Given the description of an element on the screen output the (x, y) to click on. 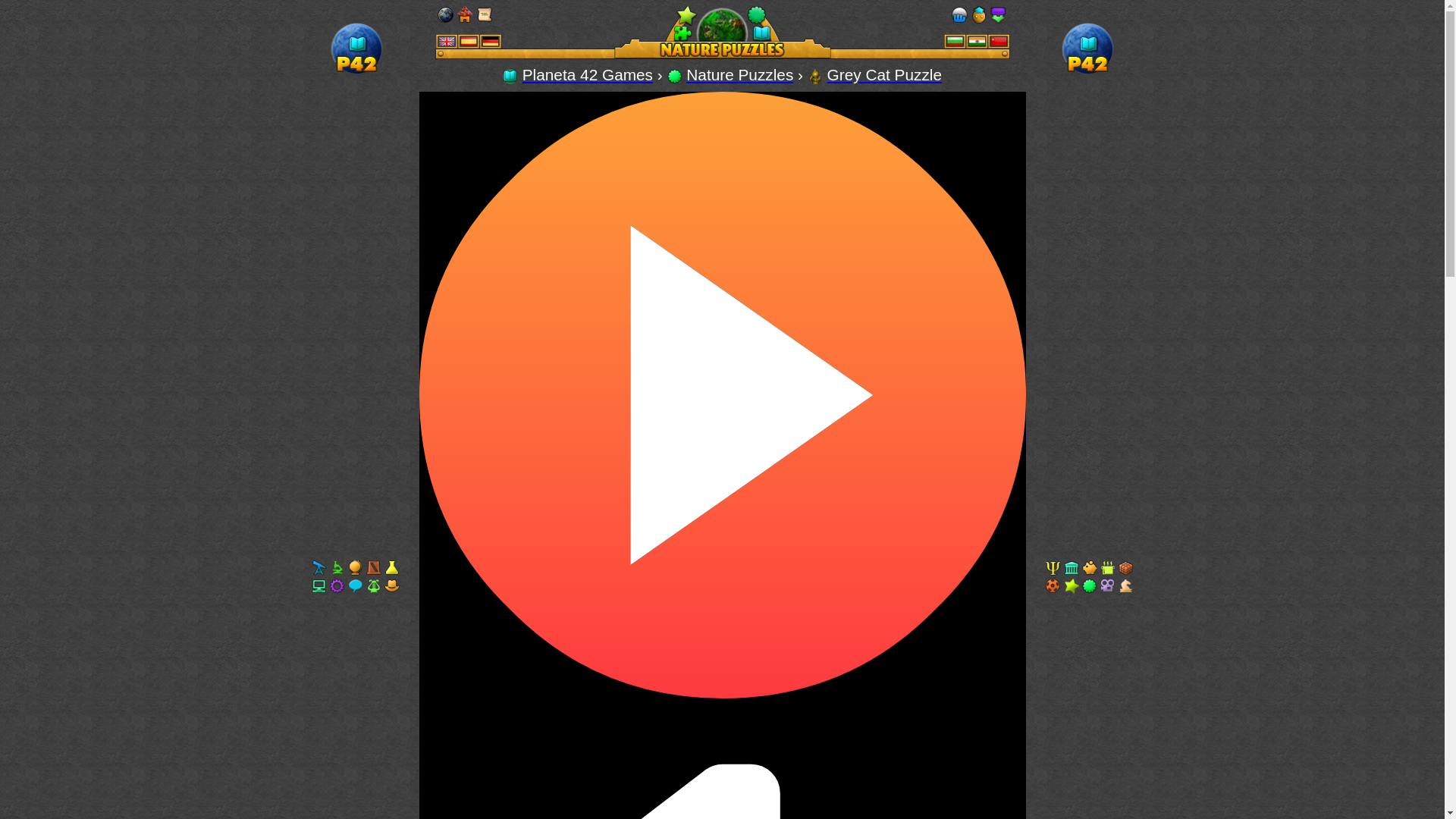
Fun Nature Puzzles (674, 75)
P42 Online Games (356, 48)
Planeta 42 Games (587, 74)
Grey Cat Puzzle (884, 74)
Online Leanirng Games (587, 74)
Planeta 42 (1087, 73)
Knowledge Level Game (884, 74)
Free Online Games (510, 75)
Fun Collectible Nature Puzzles (722, 31)
Nature Puzzle (815, 74)
Solve the puzzle (815, 75)
Nature Learning Games (739, 74)
Nature Puzzles (739, 74)
Planeta 42 (356, 73)
Fun Educational Games (510, 74)
